Given the description of an element on the screen output the (x, y) to click on. 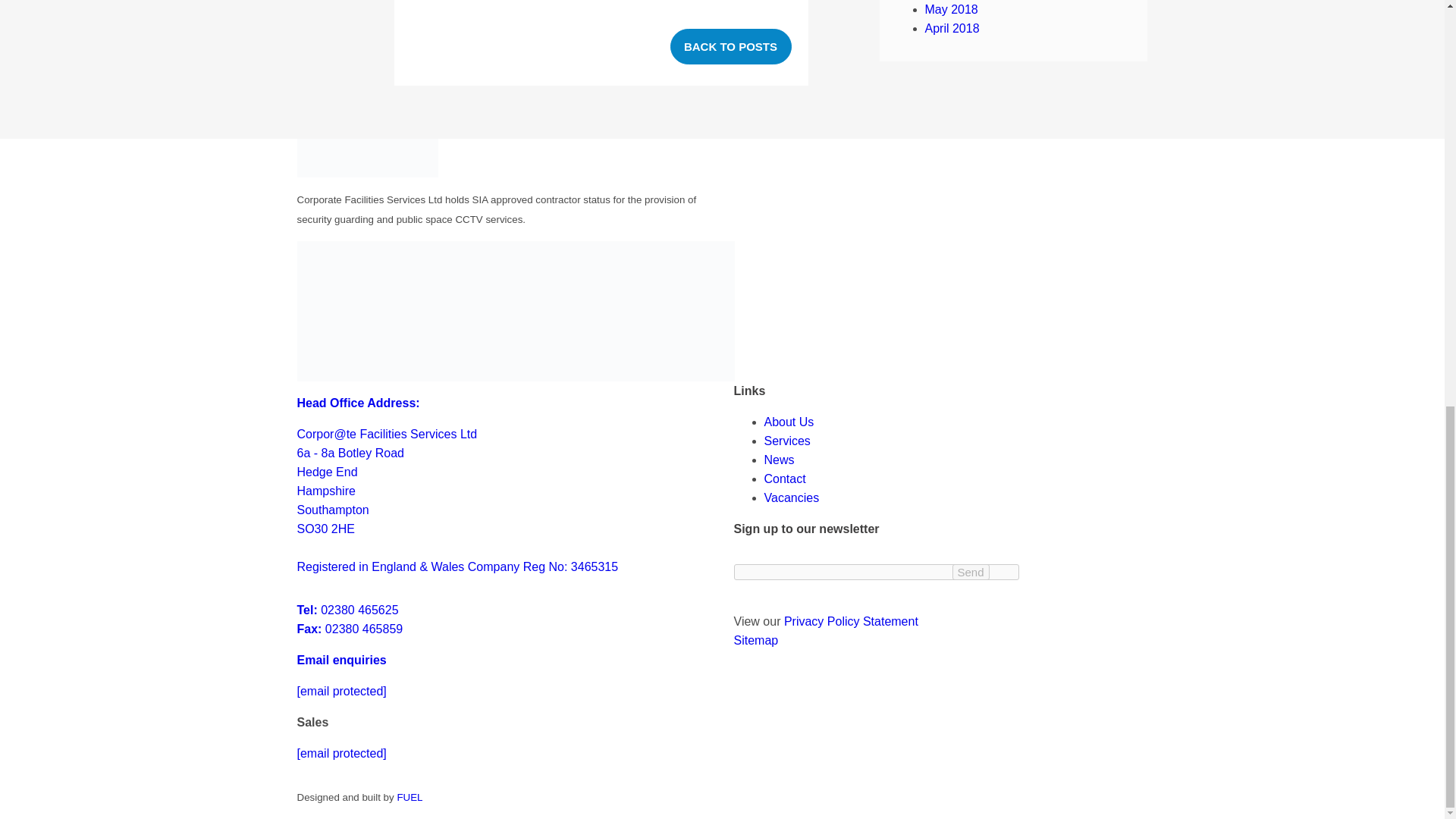
BACK TO POSTS (730, 46)
Head Office Address: (358, 402)
May 2018 (350, 619)
Send (951, 9)
Email enquiries (971, 571)
April 2018 (342, 659)
